Given the description of an element on the screen output the (x, y) to click on. 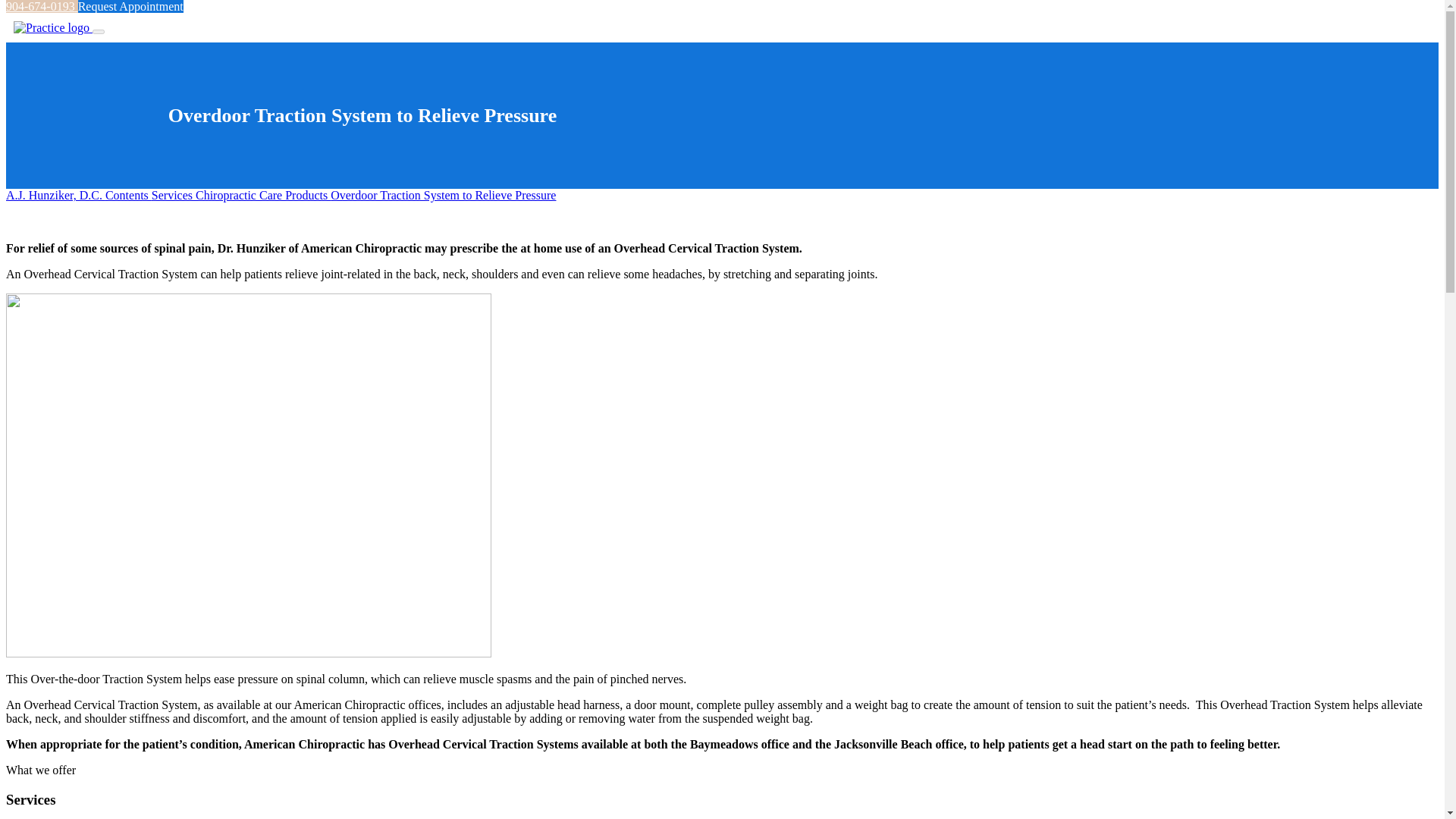
Chiropractic Care Products (262, 195)
Request Appointment (130, 6)
A.J. Hunziker, D.C. (54, 195)
904-674-0193 (41, 6)
Contents (127, 195)
Overdoor Traction System to Relieve Pressure (443, 195)
Services (173, 195)
